Given the description of an element on the screen output the (x, y) to click on. 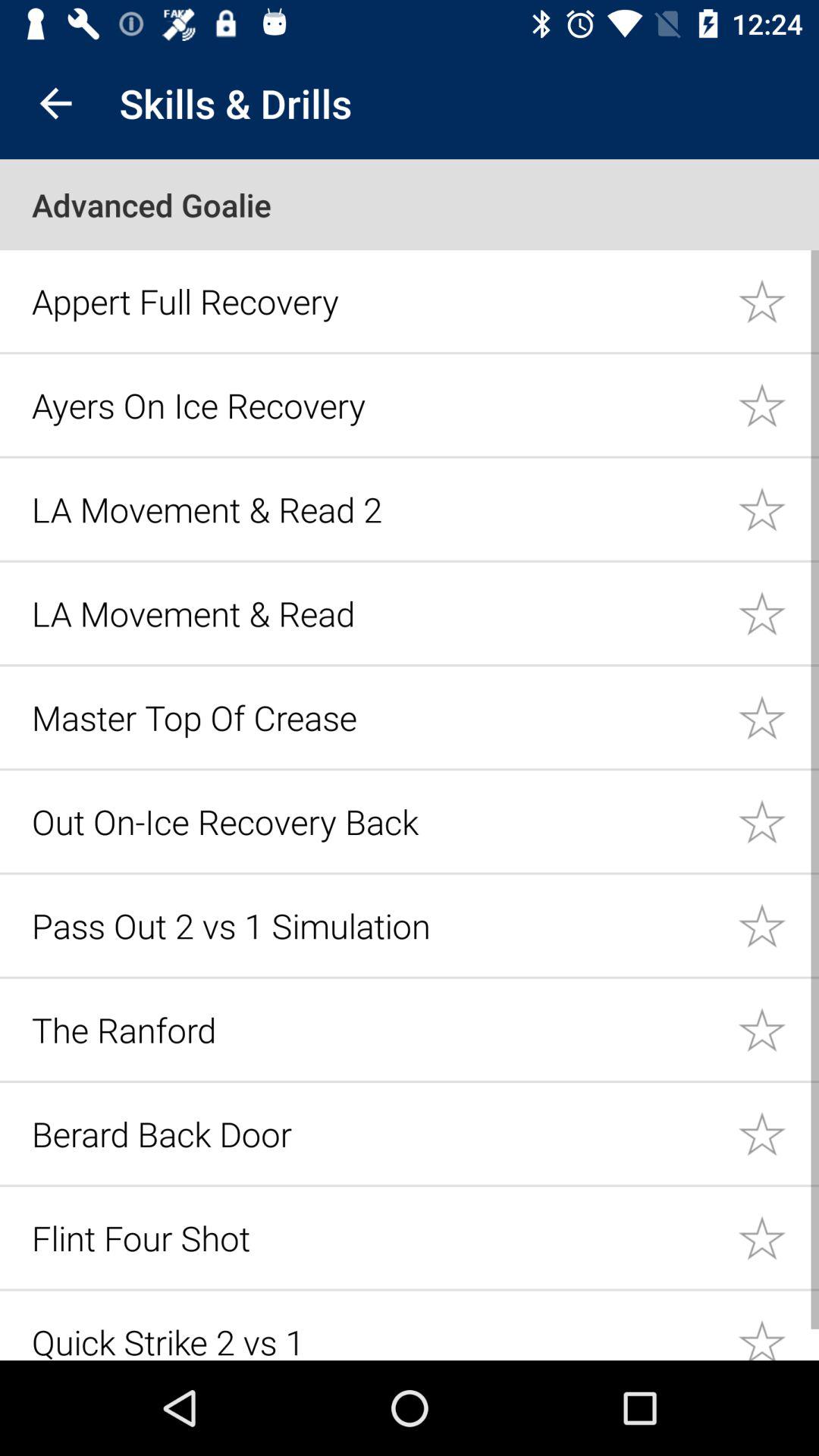
add to favorites (778, 925)
